Given the description of an element on the screen output the (x, y) to click on. 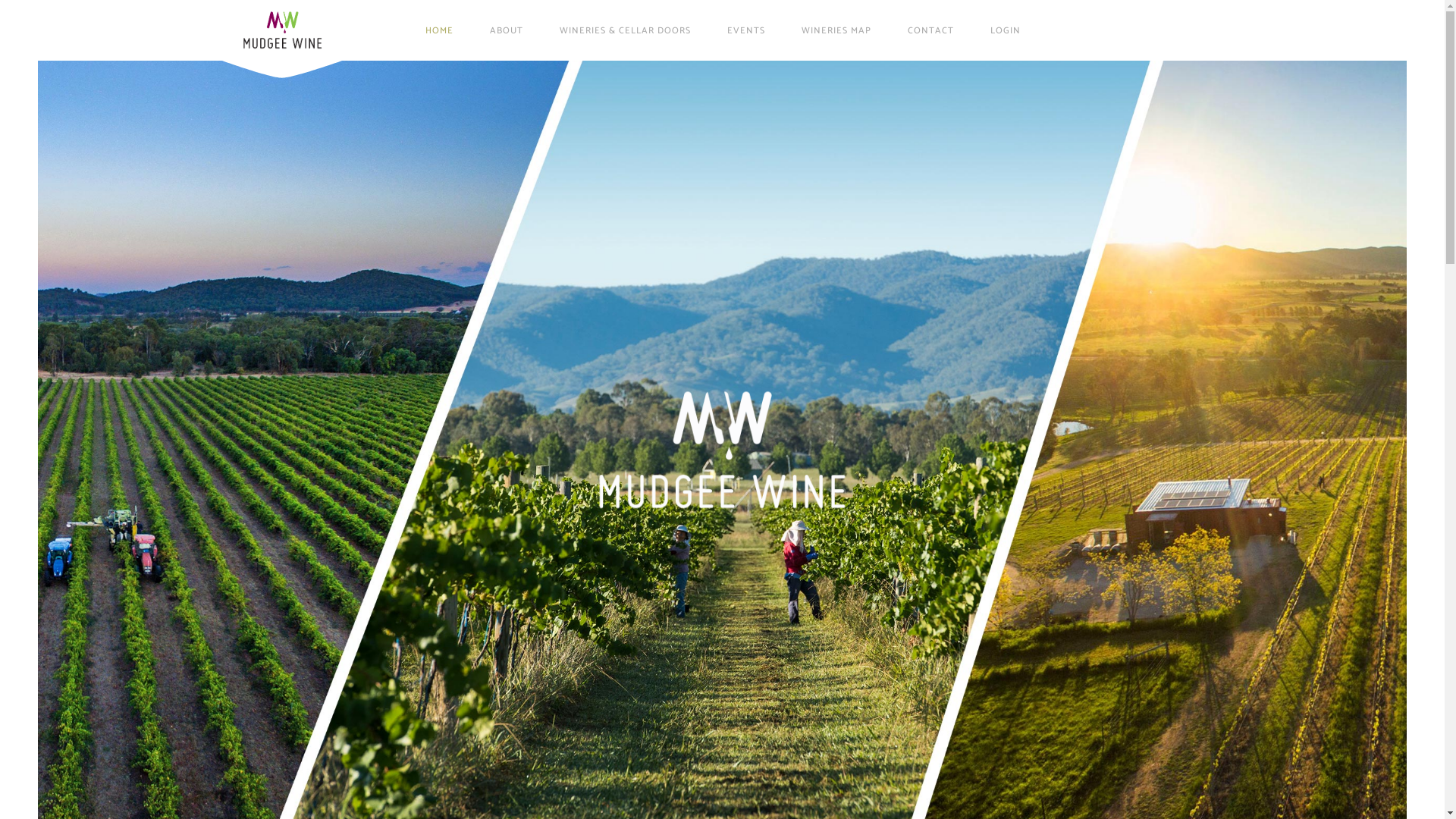
LOGIN Element type: text (1005, 29)
CONTACT Element type: text (930, 29)
EVENTS Element type: text (746, 29)
WINERIES MAP Element type: text (836, 29)
ABOUT Element type: text (506, 29)
WINERIES & CELLAR DOORS Element type: text (625, 29)
HOME Element type: text (439, 29)
